Given the description of an element on the screen output the (x, y) to click on. 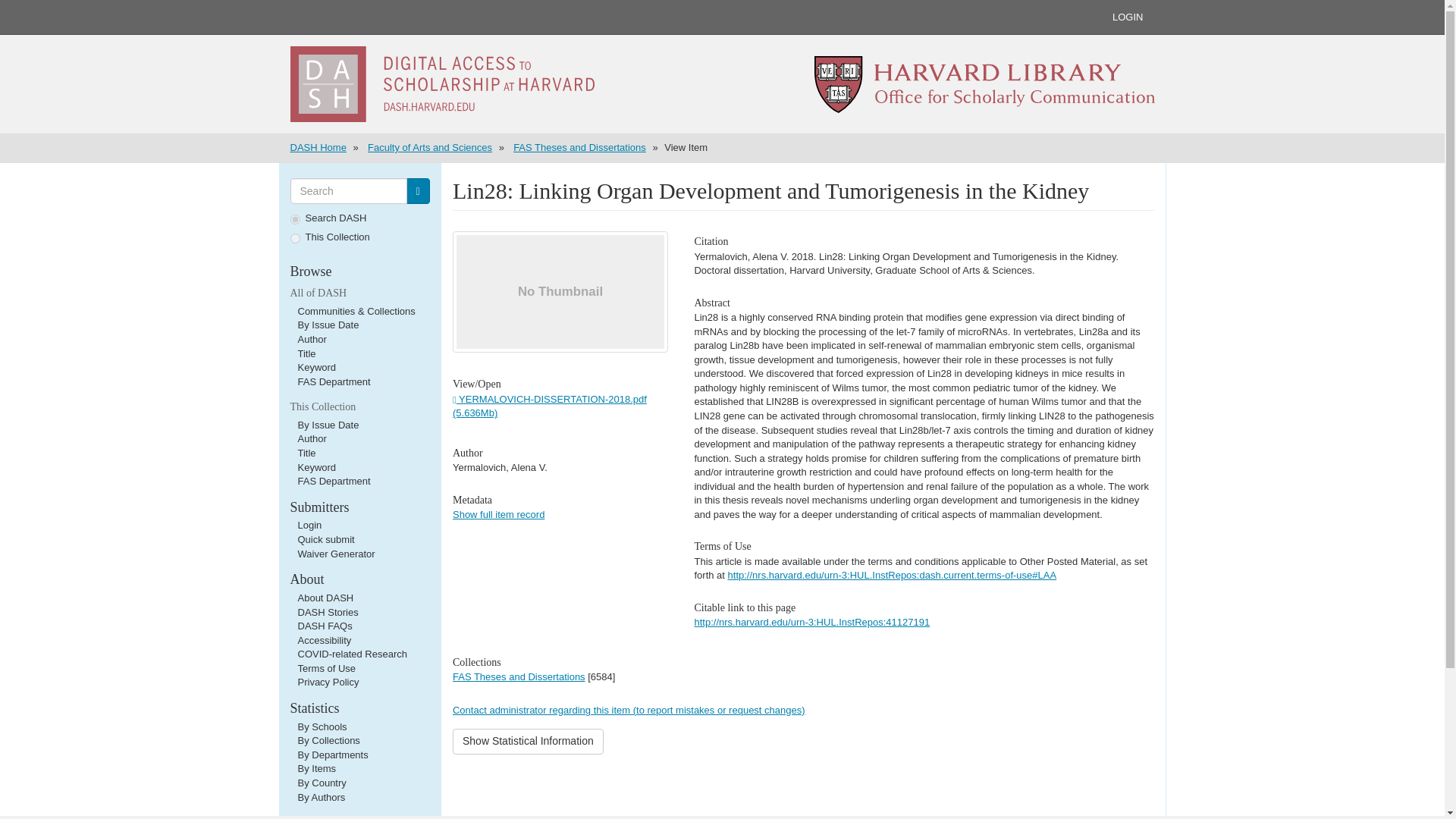
By Issue Date (327, 424)
Faculty of Arts and Sciences (430, 147)
Title (306, 353)
Go (417, 190)
LOGIN (1127, 17)
Author (311, 338)
FAS Department (333, 480)
FAS Theses and Dissertations (579, 147)
DASH Home (317, 147)
FAS Department (333, 381)
Author (311, 438)
Keyword (316, 467)
By Issue Date (327, 324)
Title (306, 452)
Keyword (316, 367)
